Given the description of an element on the screen output the (x, y) to click on. 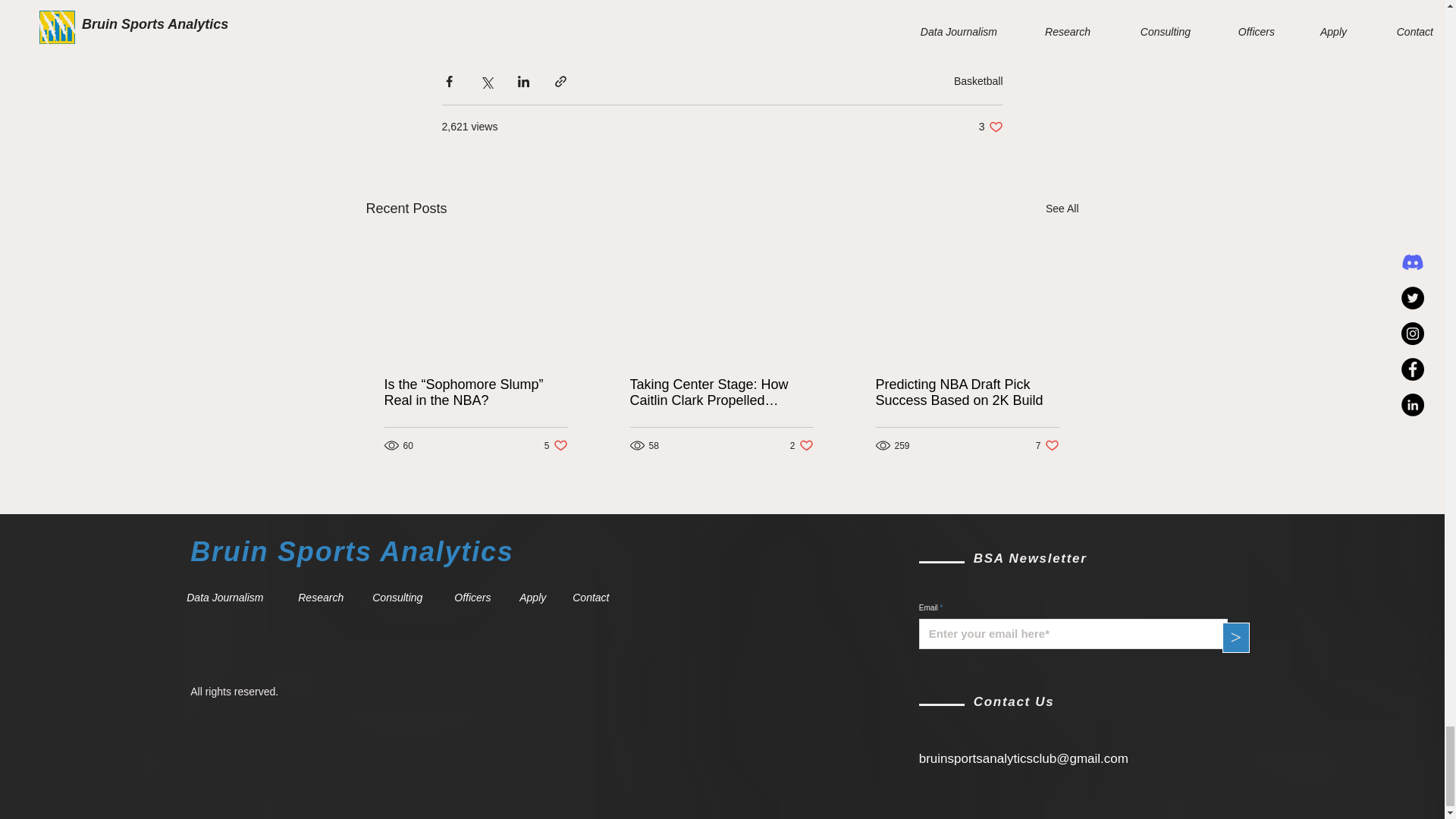
See All (555, 445)
Basketball (990, 126)
